Given the description of an element on the screen output the (x, y) to click on. 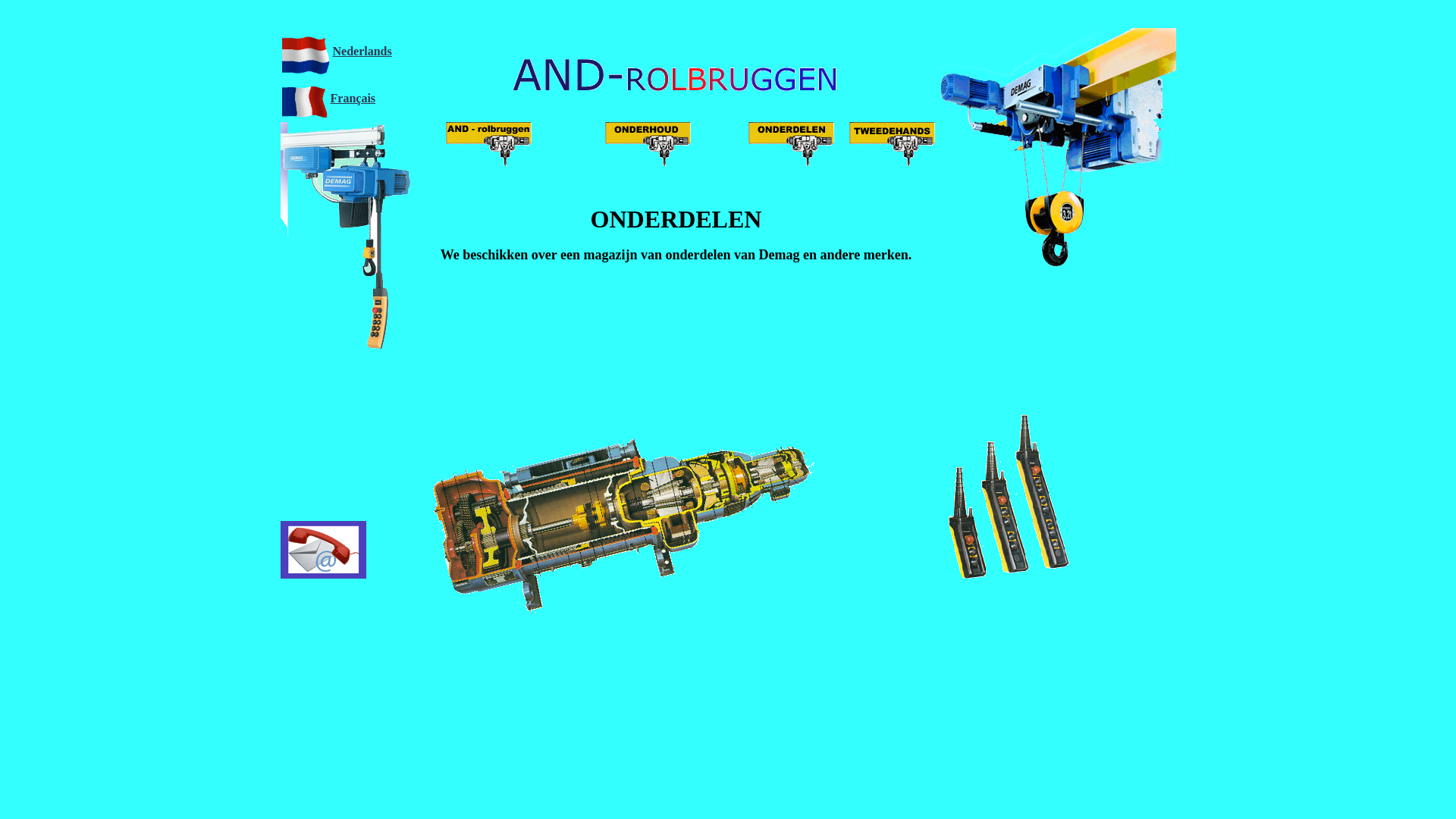
Nederlands Element type: text (361, 49)
